Given the description of an element on the screen output the (x, y) to click on. 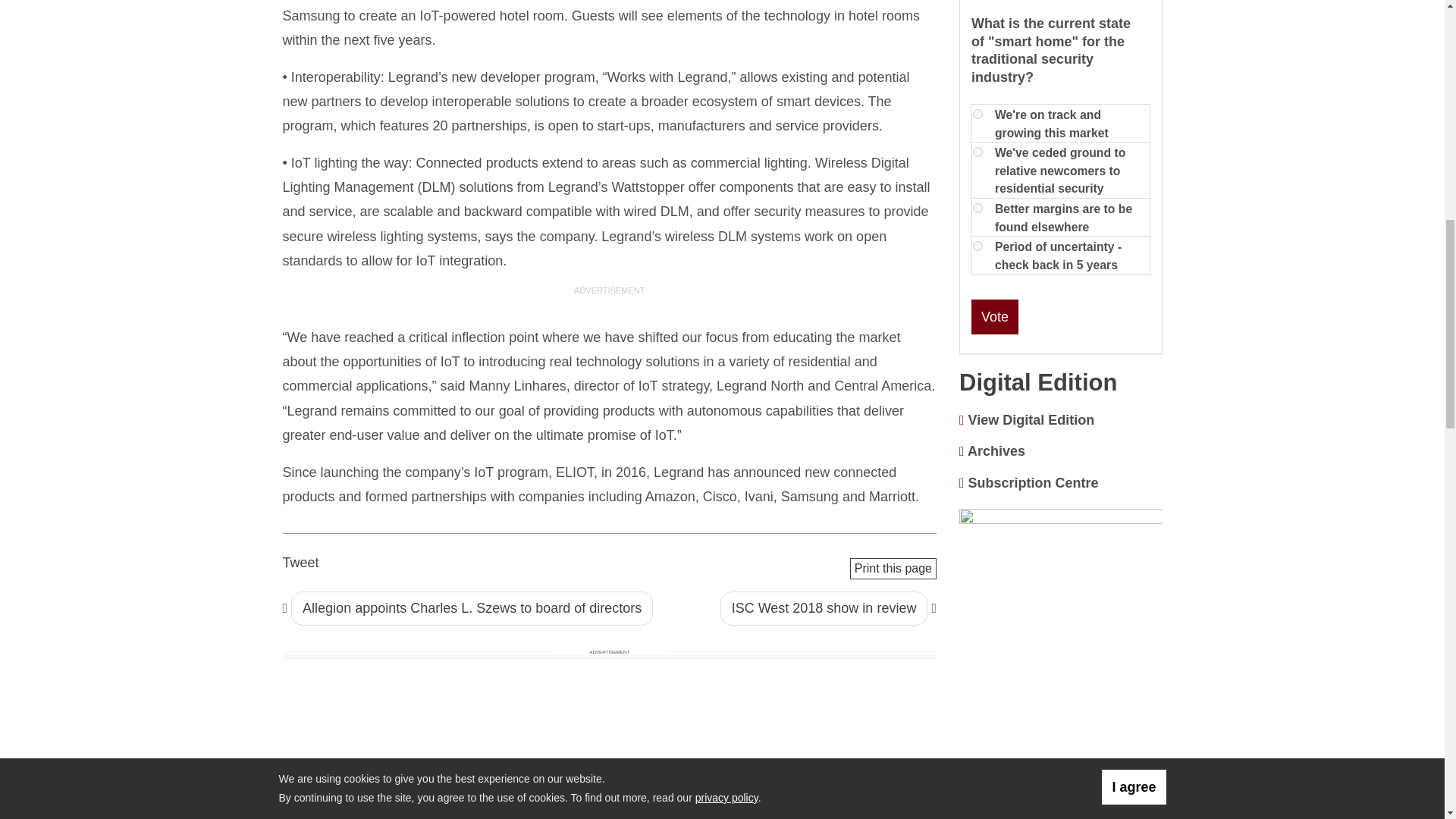
gpoll16eca7826 (977, 152)
gpoll184b400fc (977, 245)
gpoll156cbdbc4 (977, 113)
gpoll1ef286767 (977, 207)
Vote (994, 316)
